Given the description of an element on the screen output the (x, y) to click on. 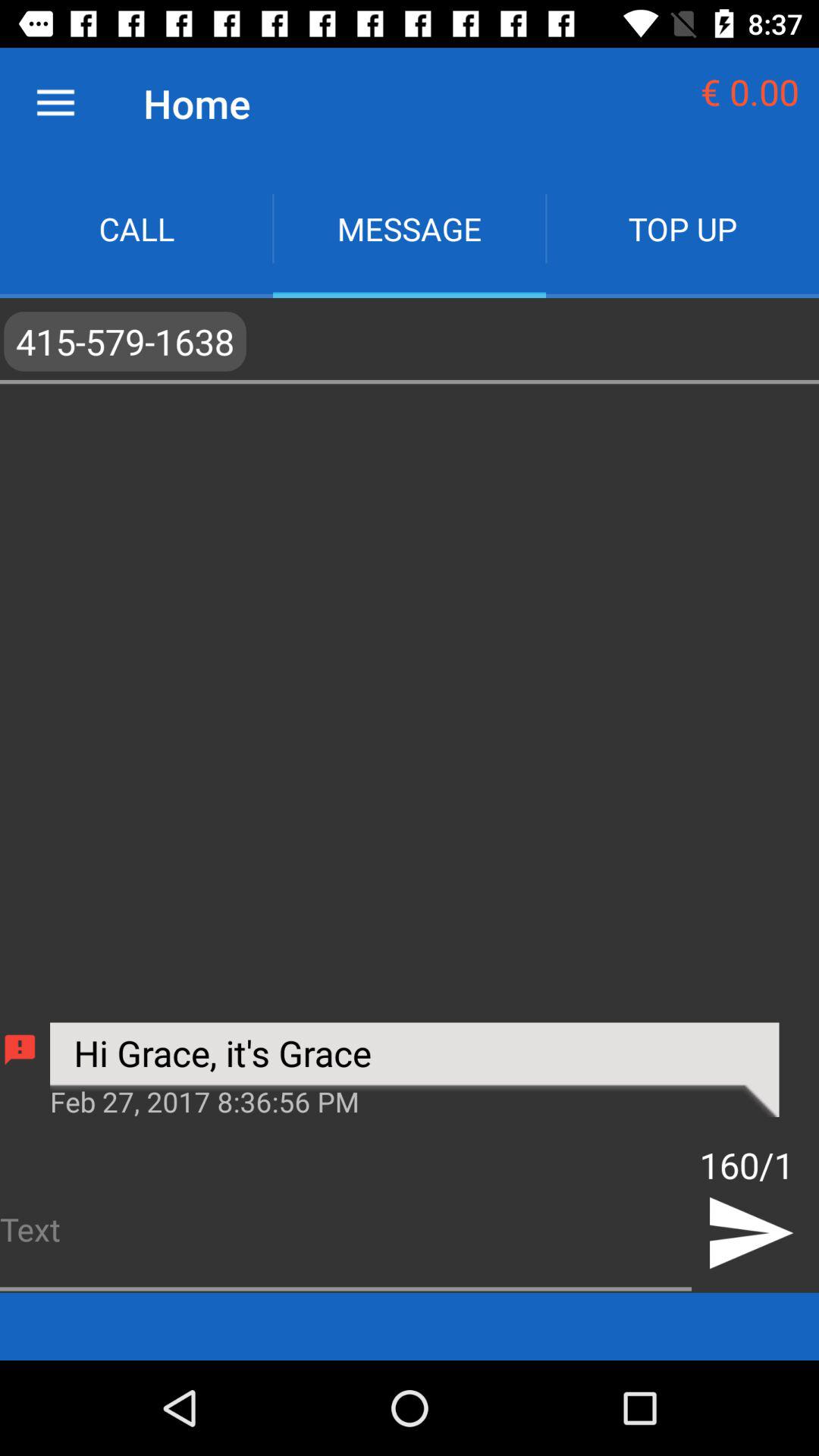
tap app below call icon (409, 341)
